Given the description of an element on the screen output the (x, y) to click on. 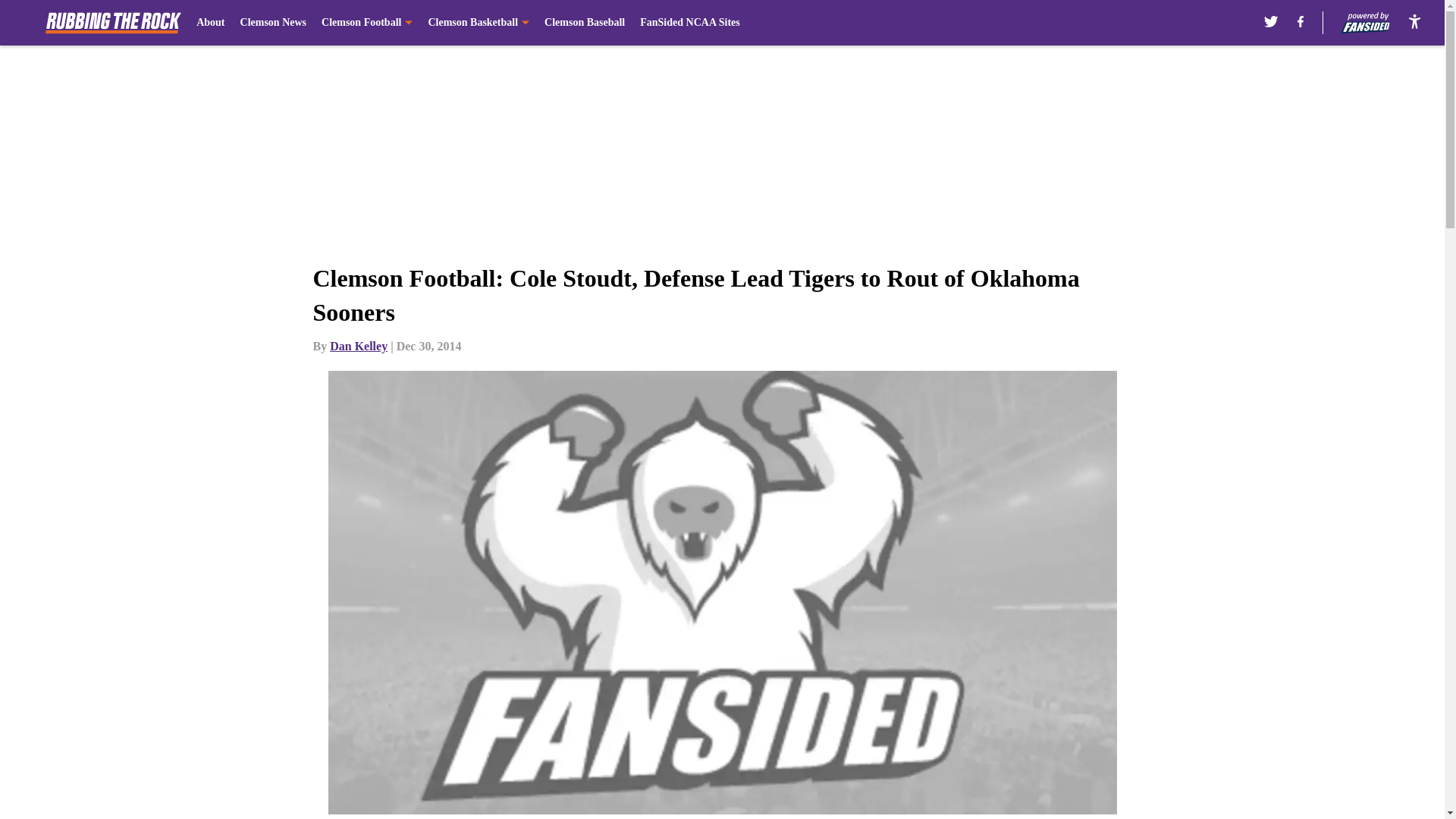
Clemson News (273, 22)
Clemson Baseball (584, 22)
FanSided NCAA Sites (689, 22)
About (210, 22)
Dan Kelley (358, 345)
